Given the description of an element on the screen output the (x, y) to click on. 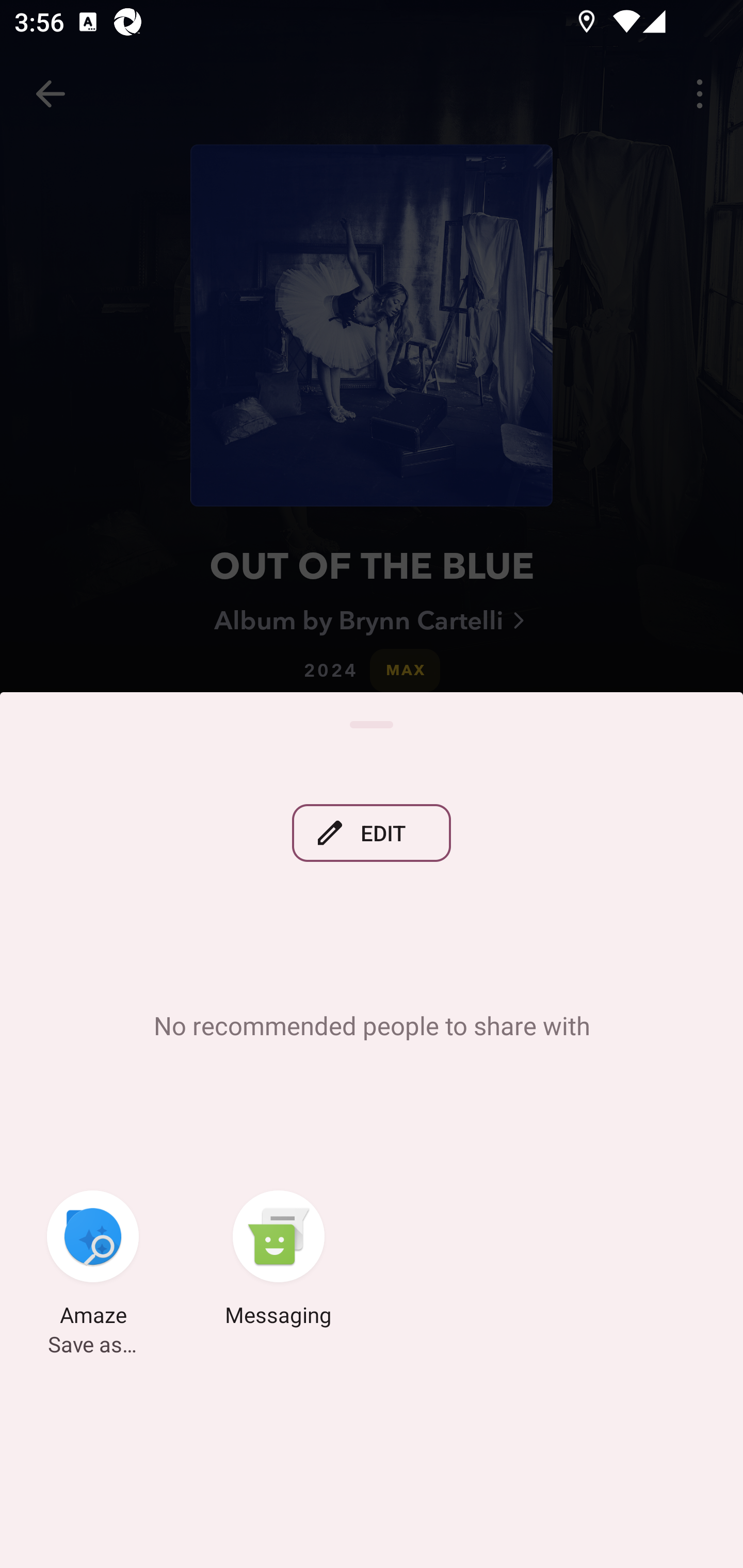
EDIT (371, 833)
Amaze Save as… (92, 1261)
Messaging (278, 1261)
